Given the description of an element on the screen output the (x, y) to click on. 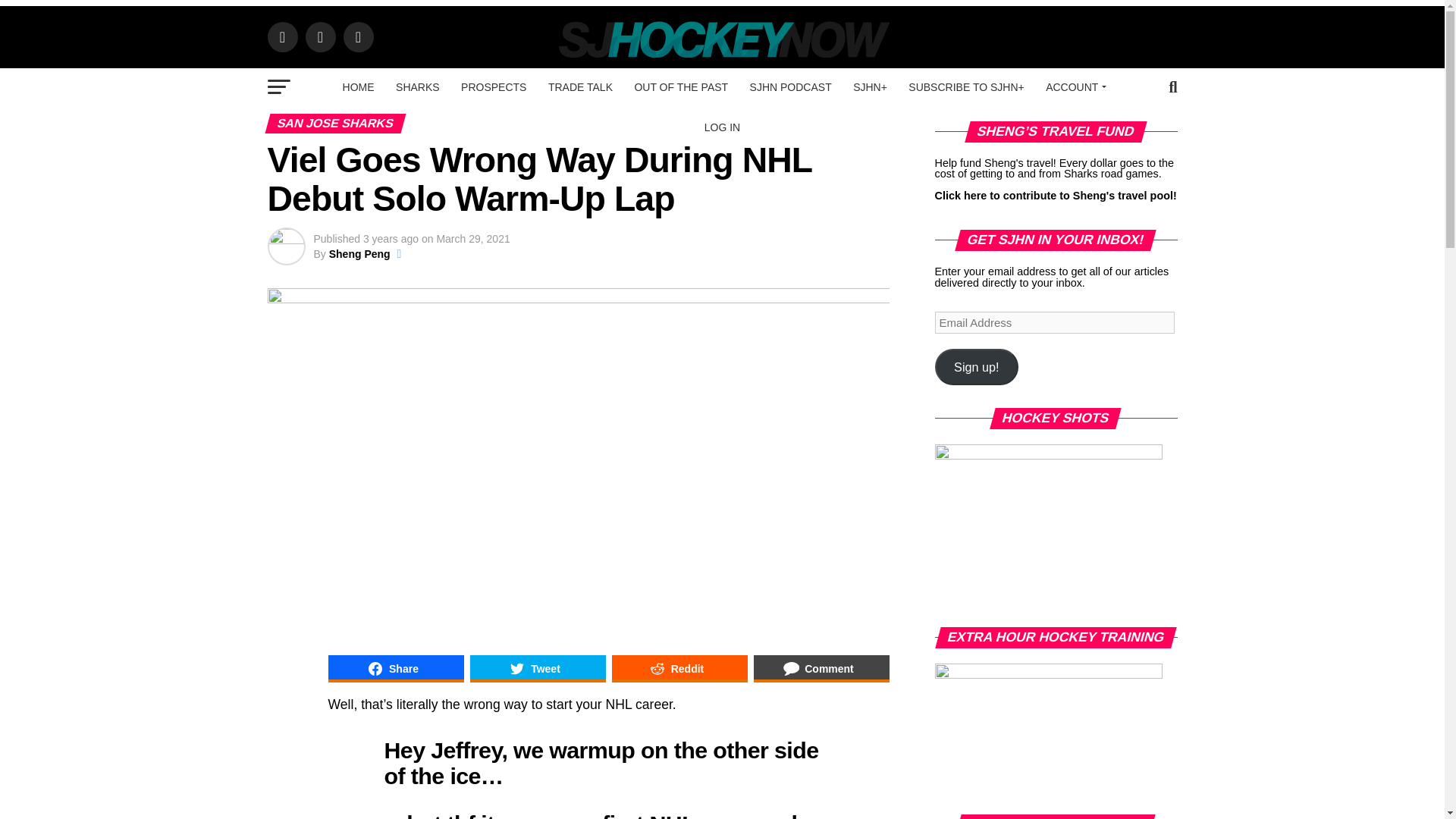
Share on Share (395, 668)
Share on Tweet (537, 668)
TRADE TALK (579, 86)
Share on Reddit (678, 668)
Posts by Sheng Peng (359, 254)
PROSPECTS (493, 86)
SHARKS (417, 86)
Share on Comment (821, 668)
HOME (358, 86)
